Given the description of an element on the screen output the (x, y) to click on. 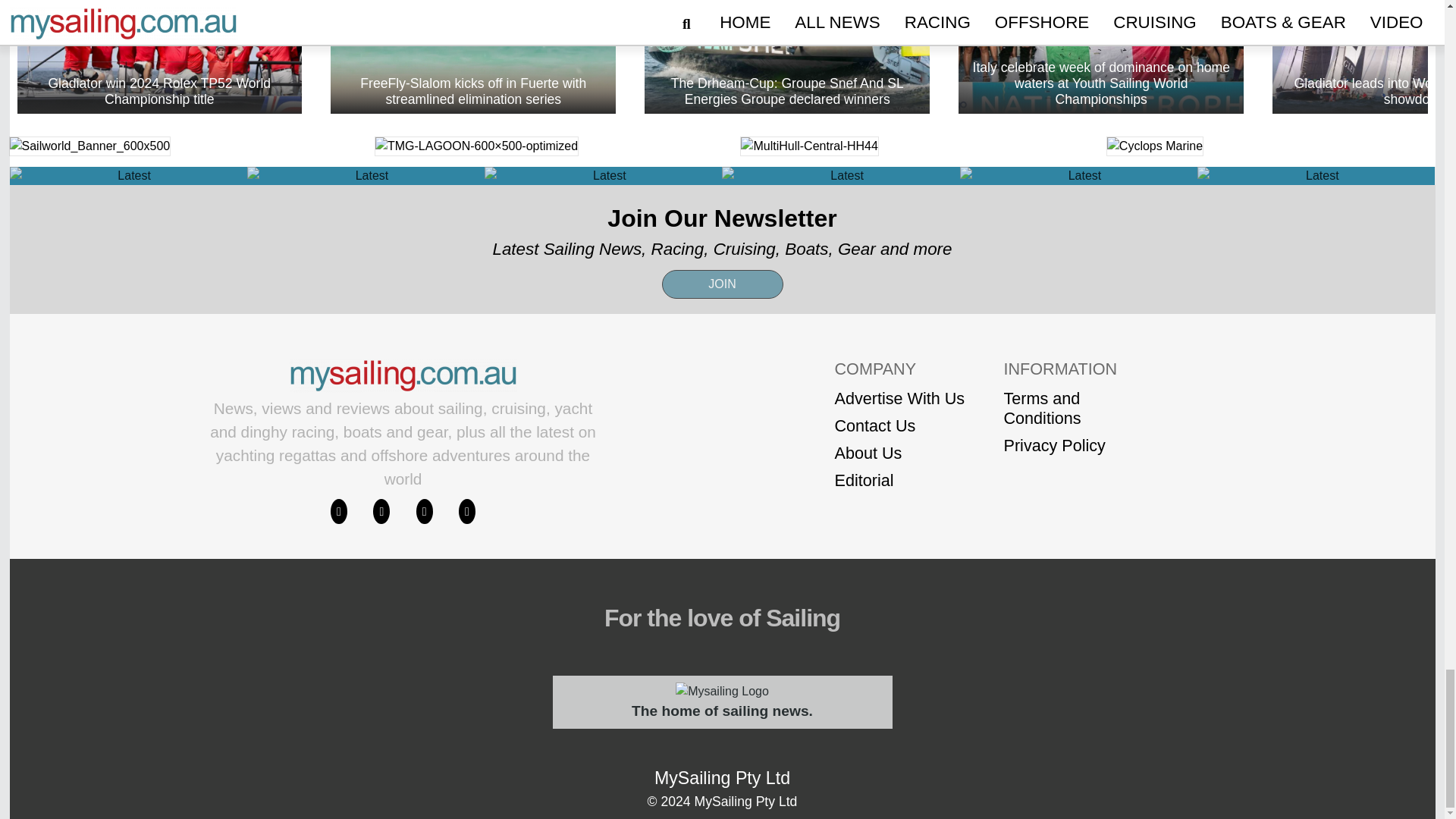
Gladiator win 2024 Rolex TP52 World Championship title (158, 56)
Contact Us (899, 425)
Advertise With Us (899, 398)
Editorial (899, 480)
About Us (899, 453)
